Given the description of an element on the screen output the (x, y) to click on. 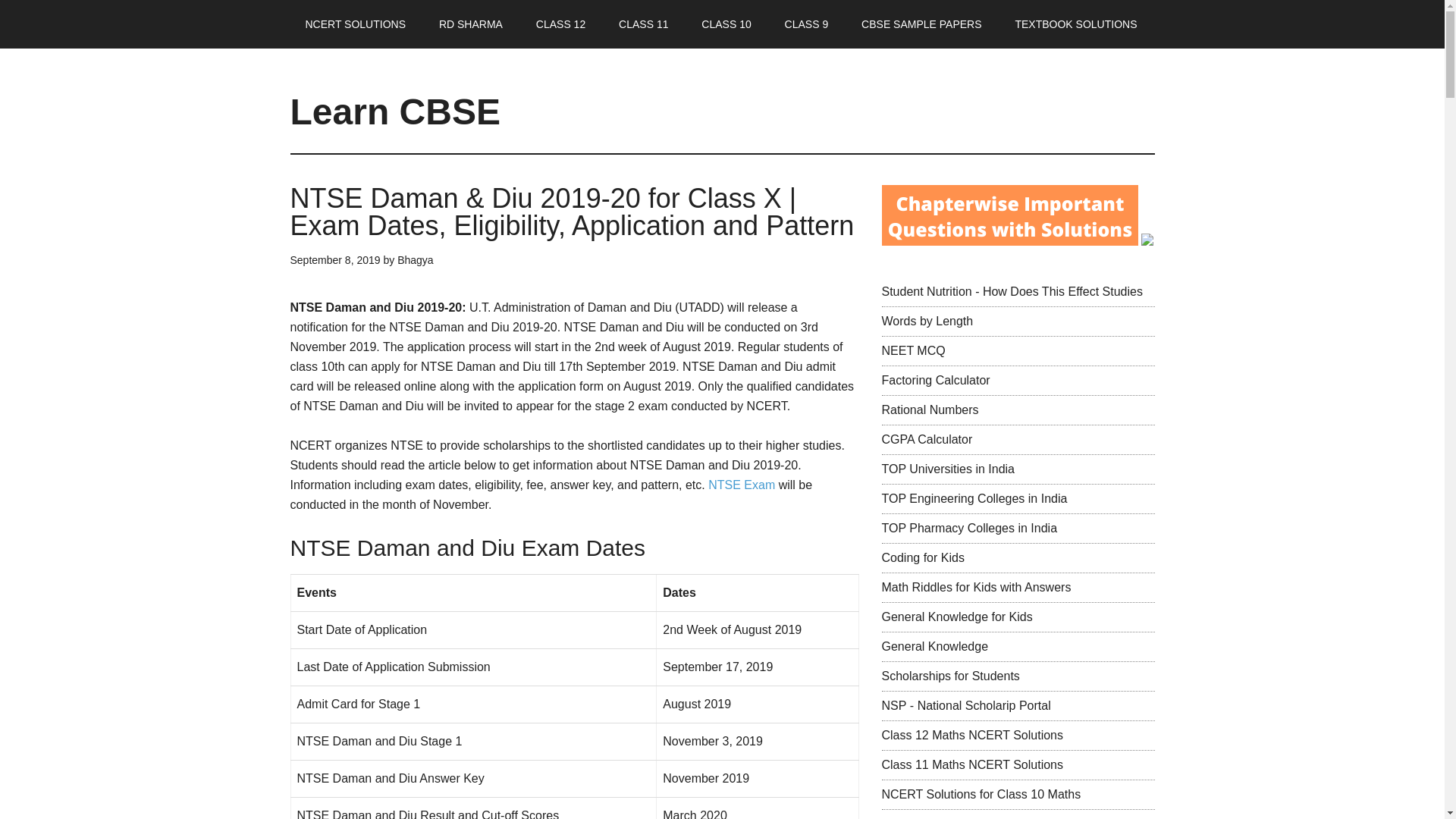
NCERT SOLUTIONS (354, 24)
RD SHARMA (470, 24)
CLASS 12 (560, 24)
CLASS 11 (643, 24)
